Given the description of an element on the screen output the (x, y) to click on. 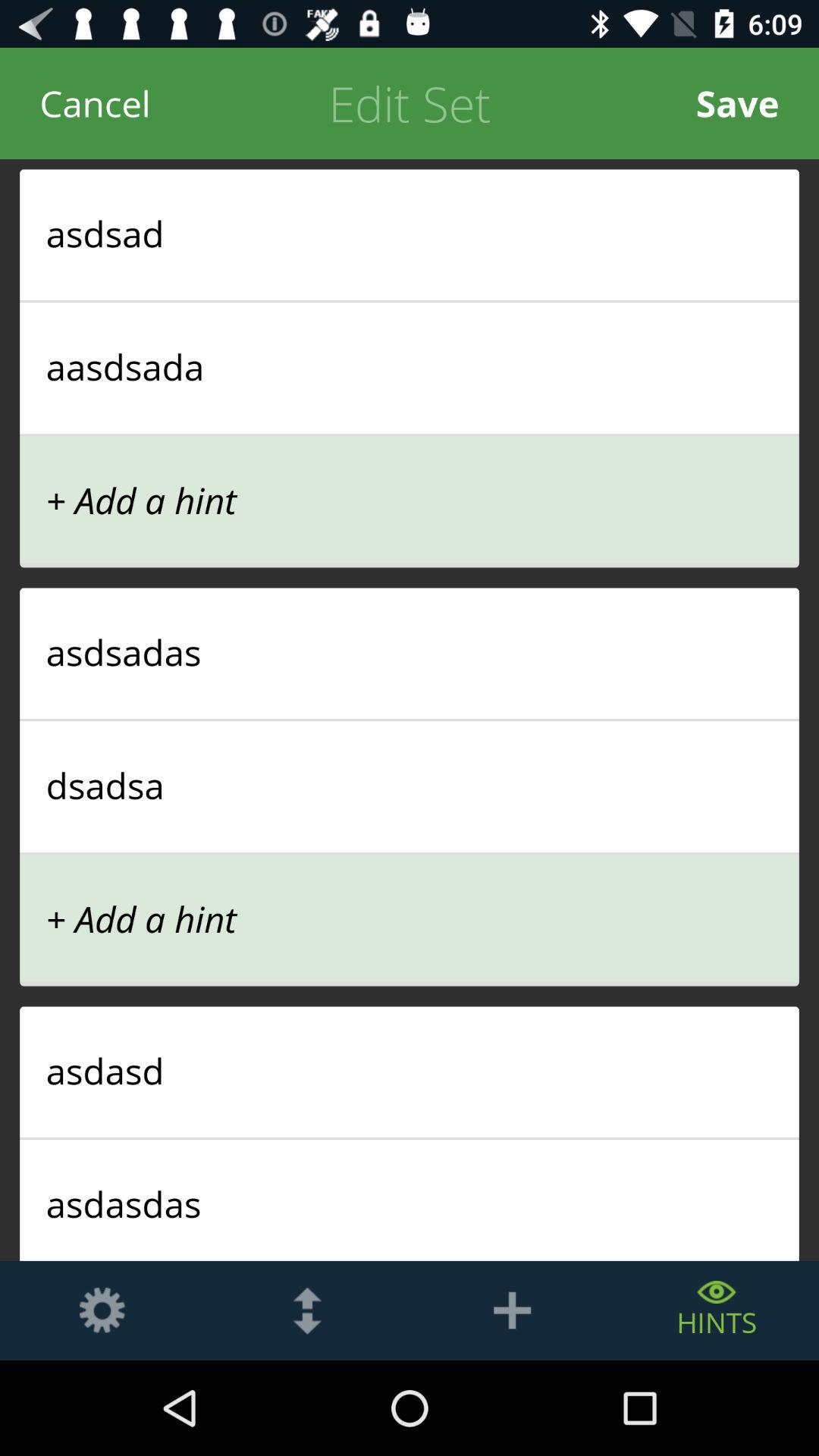
settings (102, 1310)
